Given the description of an element on the screen output the (x, y) to click on. 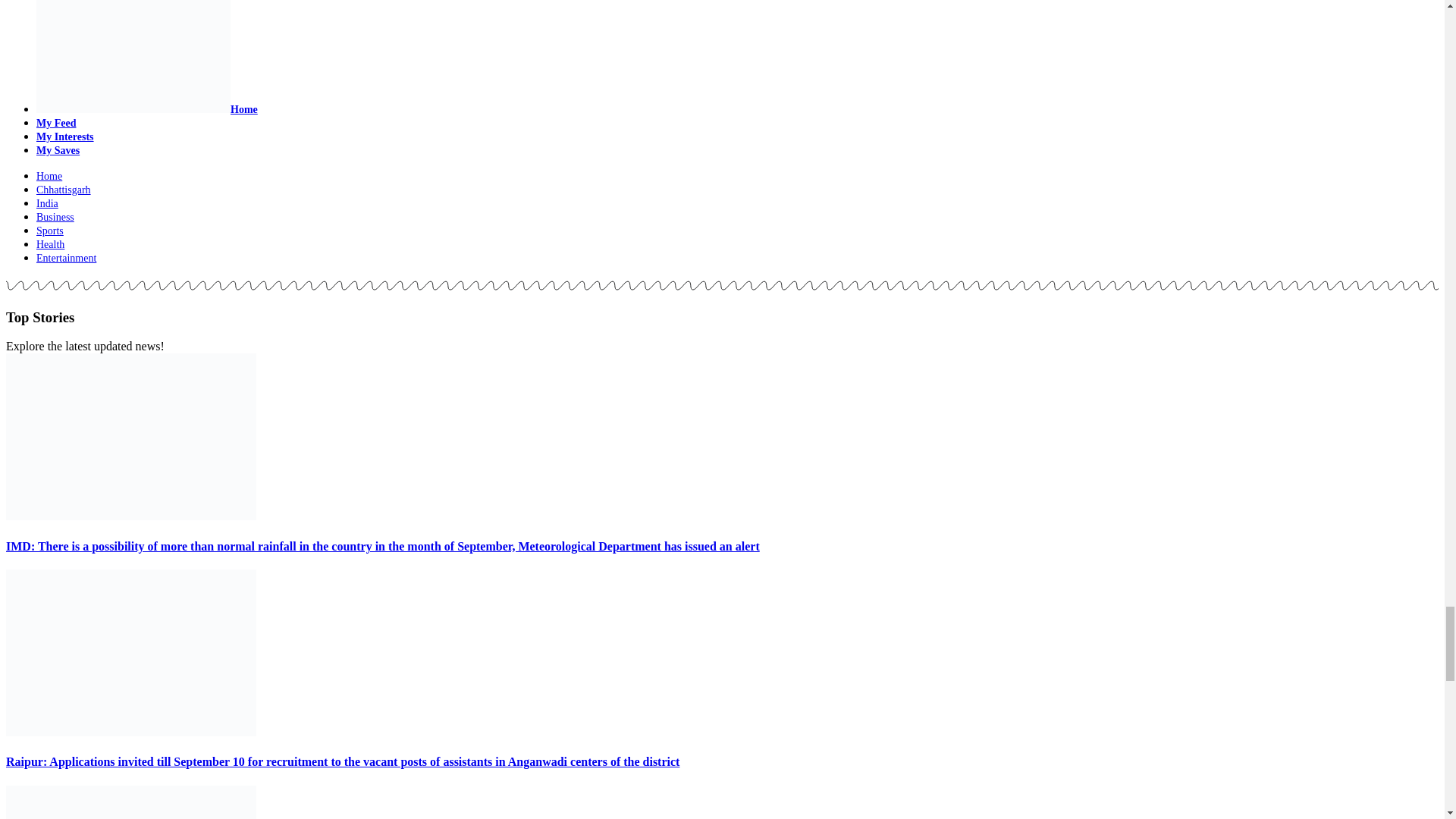
Health (50, 244)
My Feed (55, 122)
Entertainment (66, 257)
Sports (50, 230)
Business (55, 216)
